Given the description of an element on the screen output the (x, y) to click on. 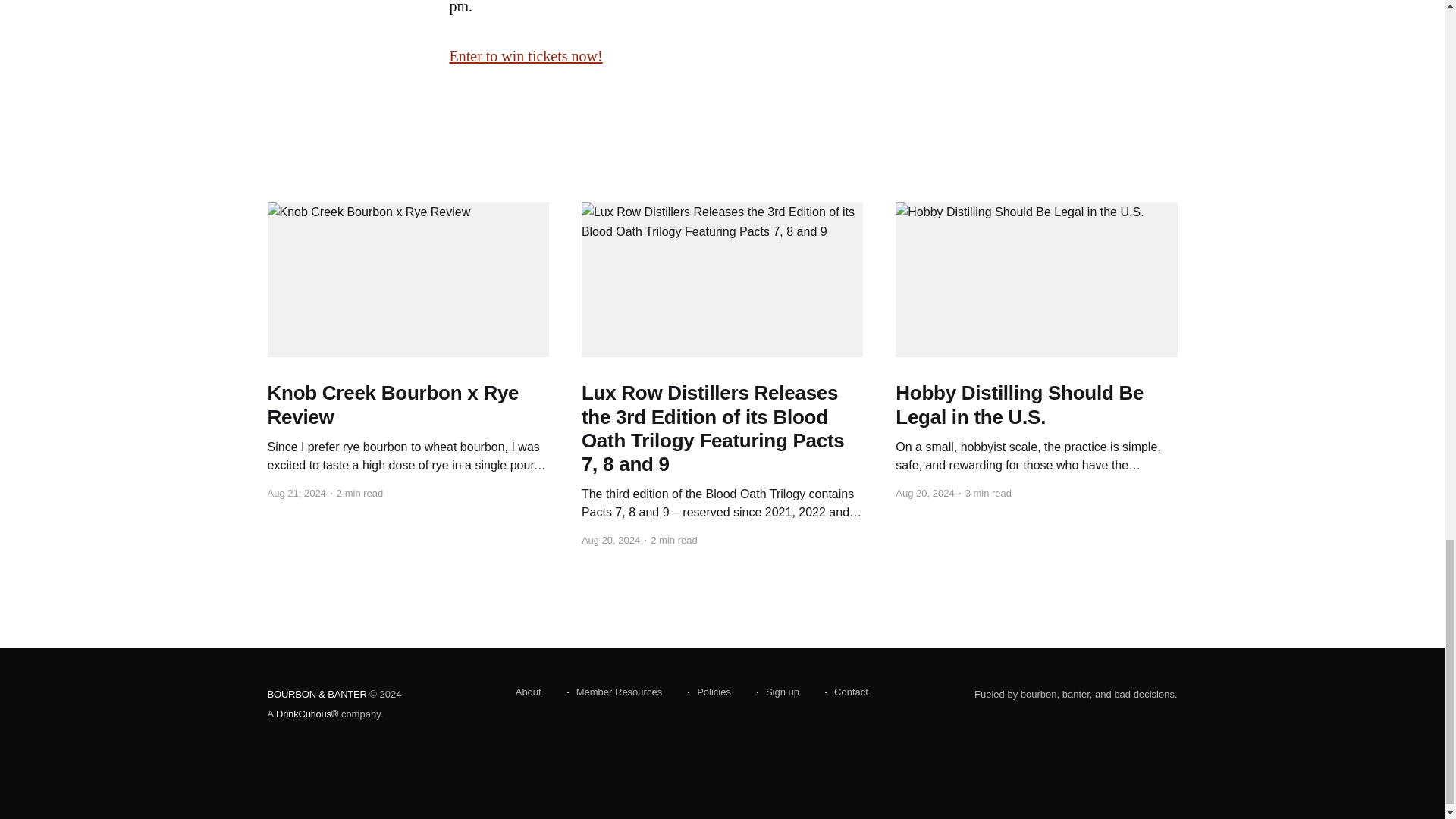
Policies (708, 692)
Contact (846, 692)
About (528, 692)
Enter to win tickets now! (525, 55)
Member Resources (614, 692)
Sign up (778, 692)
